Given the description of an element on the screen output the (x, y) to click on. 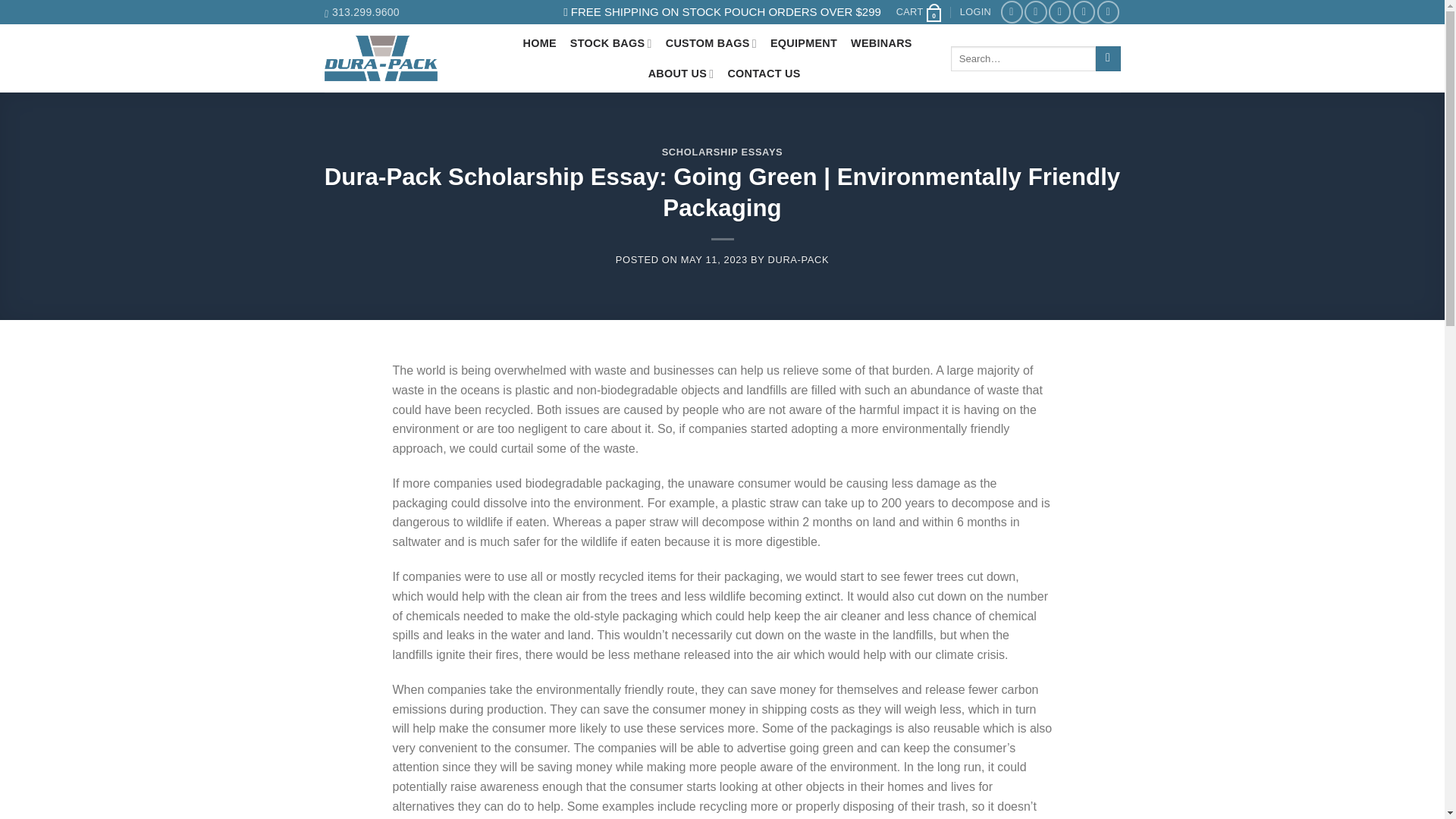
Follow on YouTube (1108, 11)
ABOUT US (680, 73)
313.299.9600 (361, 12)
Send us an email (1059, 11)
Follow on Instagram (1035, 11)
CUSTOM BAGS (711, 42)
Follow on LinkedIn (1083, 11)
WEBINARS (881, 42)
HOME (539, 42)
STOCK BAGS (611, 42)
